Given the description of an element on the screen output the (x, y) to click on. 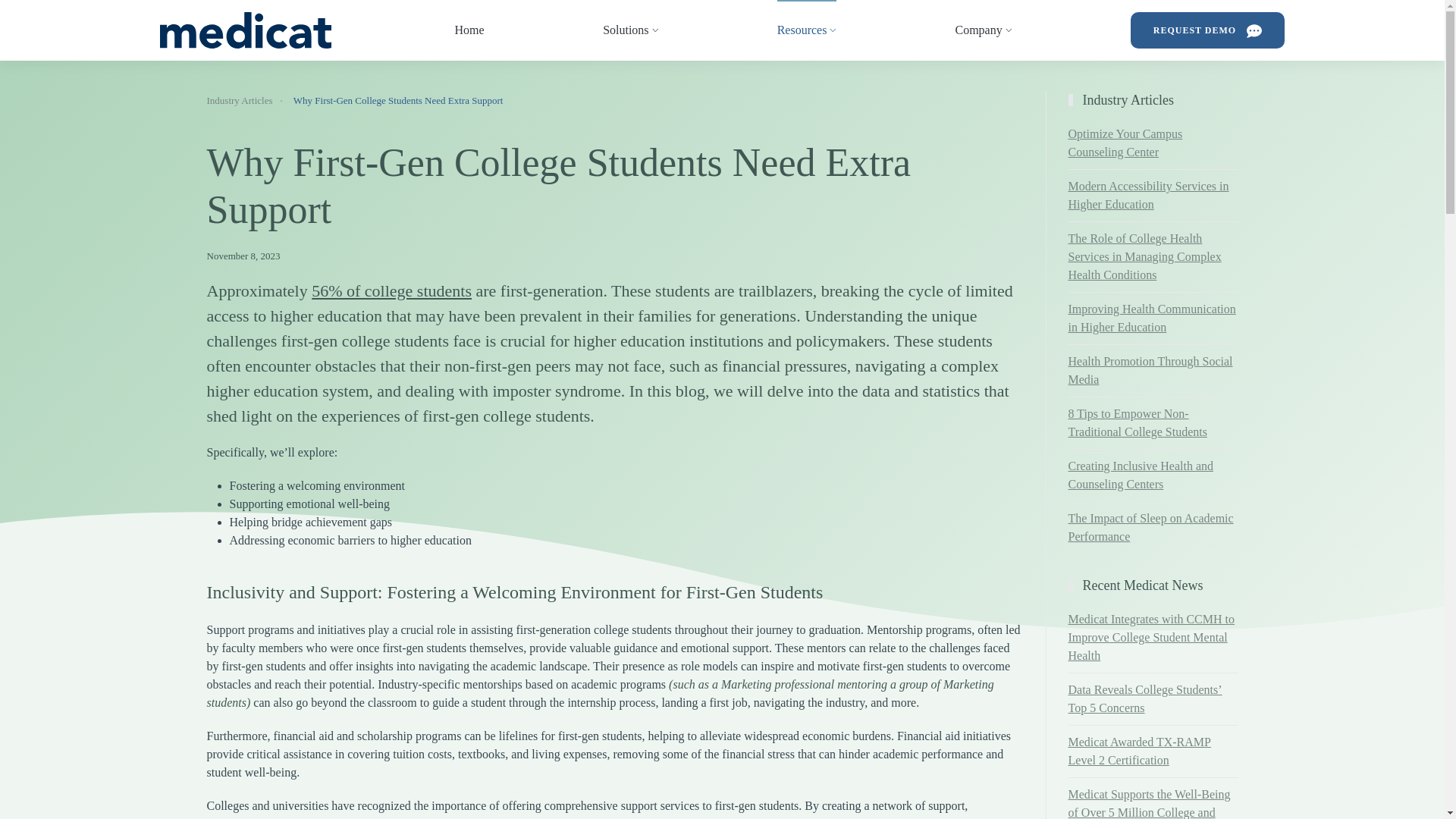
November 8, 2023 (614, 255)
Industry Articles (1152, 99)
Resources (806, 30)
Solutions (630, 30)
Recent Medicat News (1152, 585)
Why First-Gen College Students Need Extra Support (614, 186)
